Given the description of an element on the screen output the (x, y) to click on. 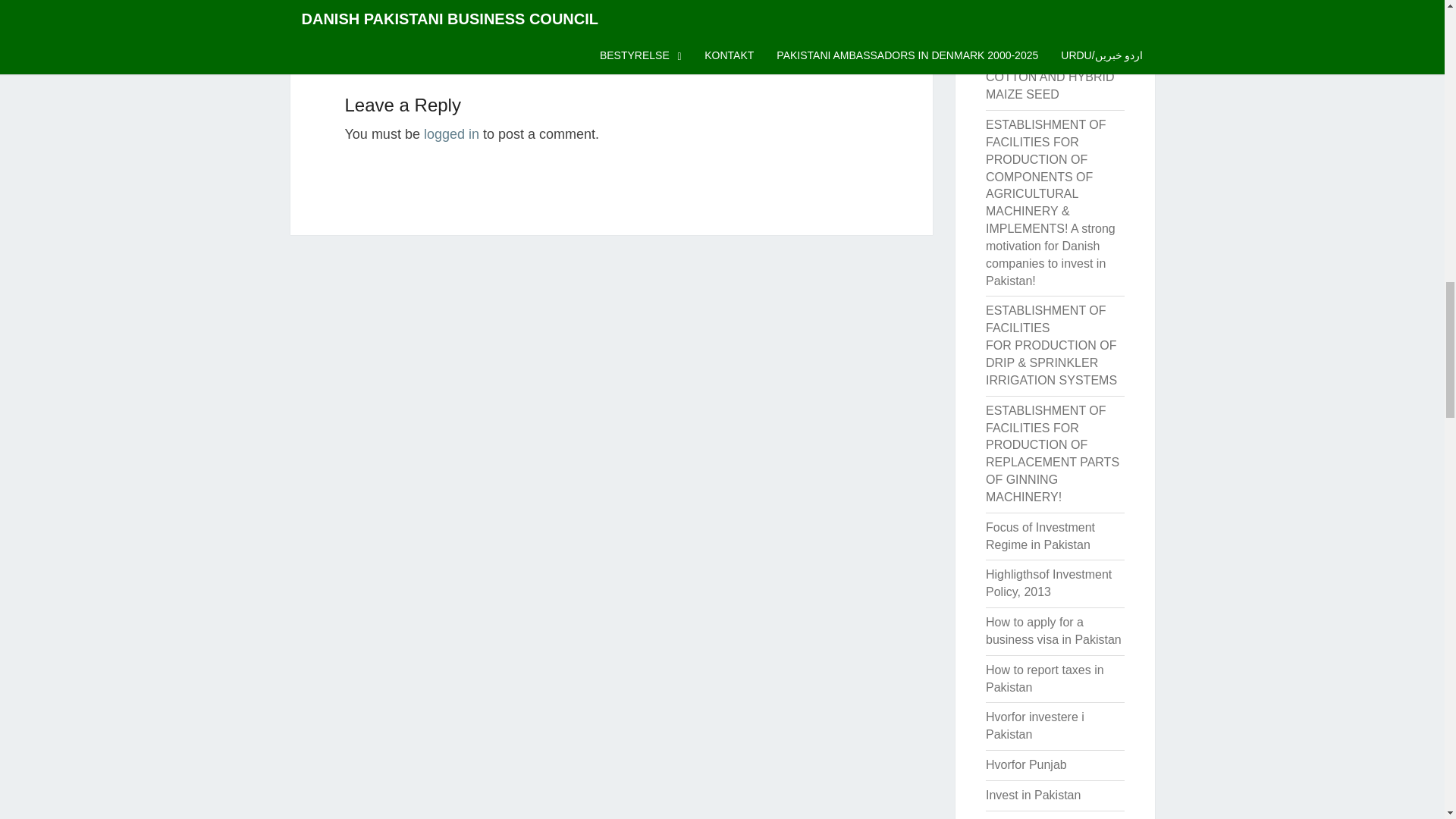
logged in (451, 133)
Employee benefits in Pakistan (1042, 0)
